Given the description of an element on the screen output the (x, y) to click on. 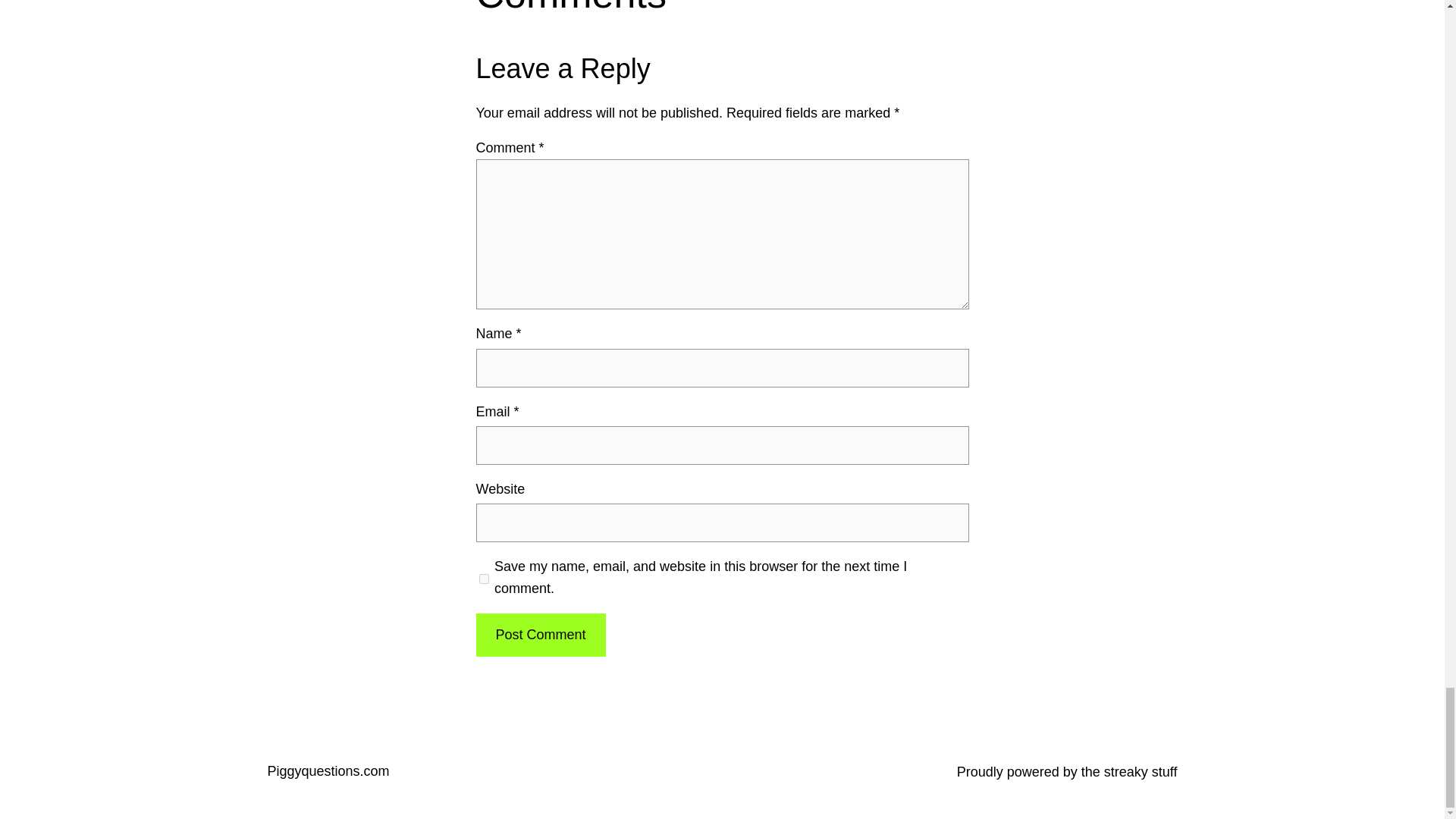
Post Comment (540, 634)
Post Comment (540, 634)
Piggyquestions.com (327, 770)
